Given the description of an element on the screen output the (x, y) to click on. 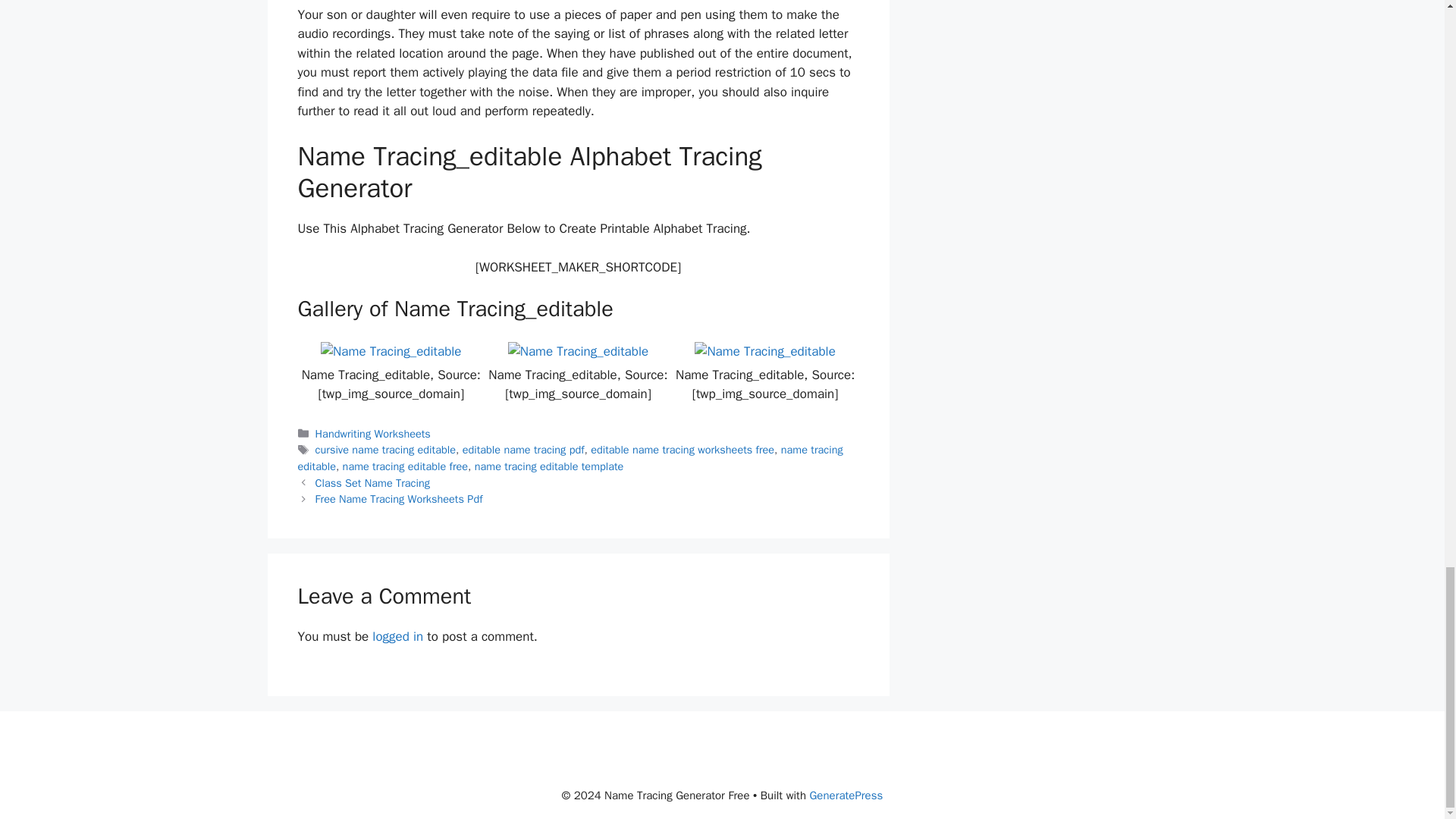
Free Name Tracing Worksheets Pdf (399, 499)
editable name tracing worksheets free (682, 449)
name tracing editable free (404, 466)
Handwriting Worksheets (372, 433)
logged in (397, 636)
name tracing editable template (549, 466)
GeneratePress (845, 795)
name tracing editable (570, 458)
editable name tracing pdf (524, 449)
Class Set Name Tracing (372, 482)
cursive name tracing editable (385, 449)
